Given the description of an element on the screen output the (x, y) to click on. 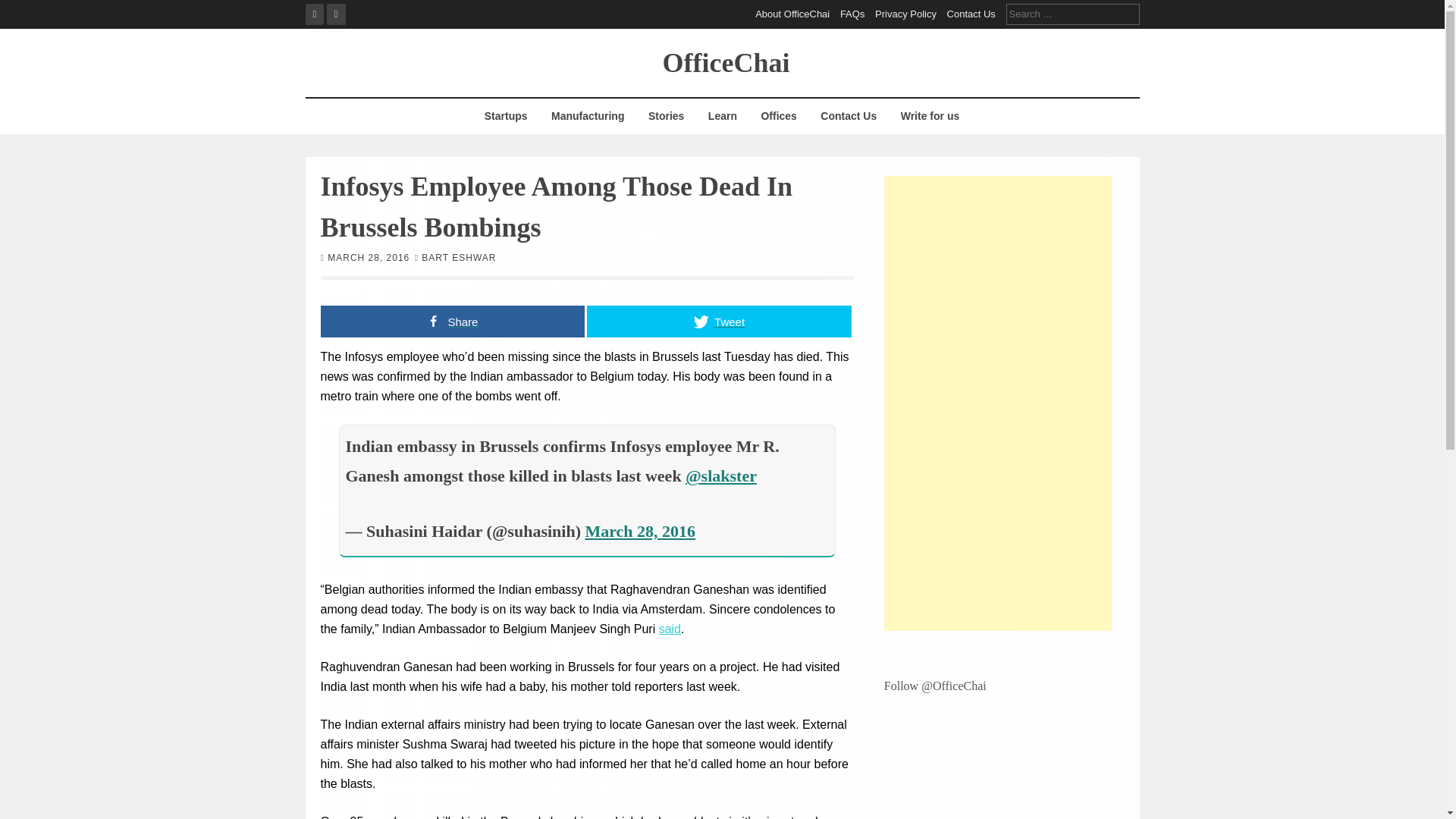
Contact Us (848, 116)
Stories (666, 116)
said (670, 628)
Tweet (718, 320)
Write for us (930, 116)
OfficeChai (726, 61)
FAQs (852, 13)
Share (452, 320)
March 28, 2016 (640, 530)
Startups (505, 116)
Search (23, 9)
Manufacturing (587, 116)
Learn (722, 116)
MARCH 28, 2016 (368, 256)
